Given the description of an element on the screen output the (x, y) to click on. 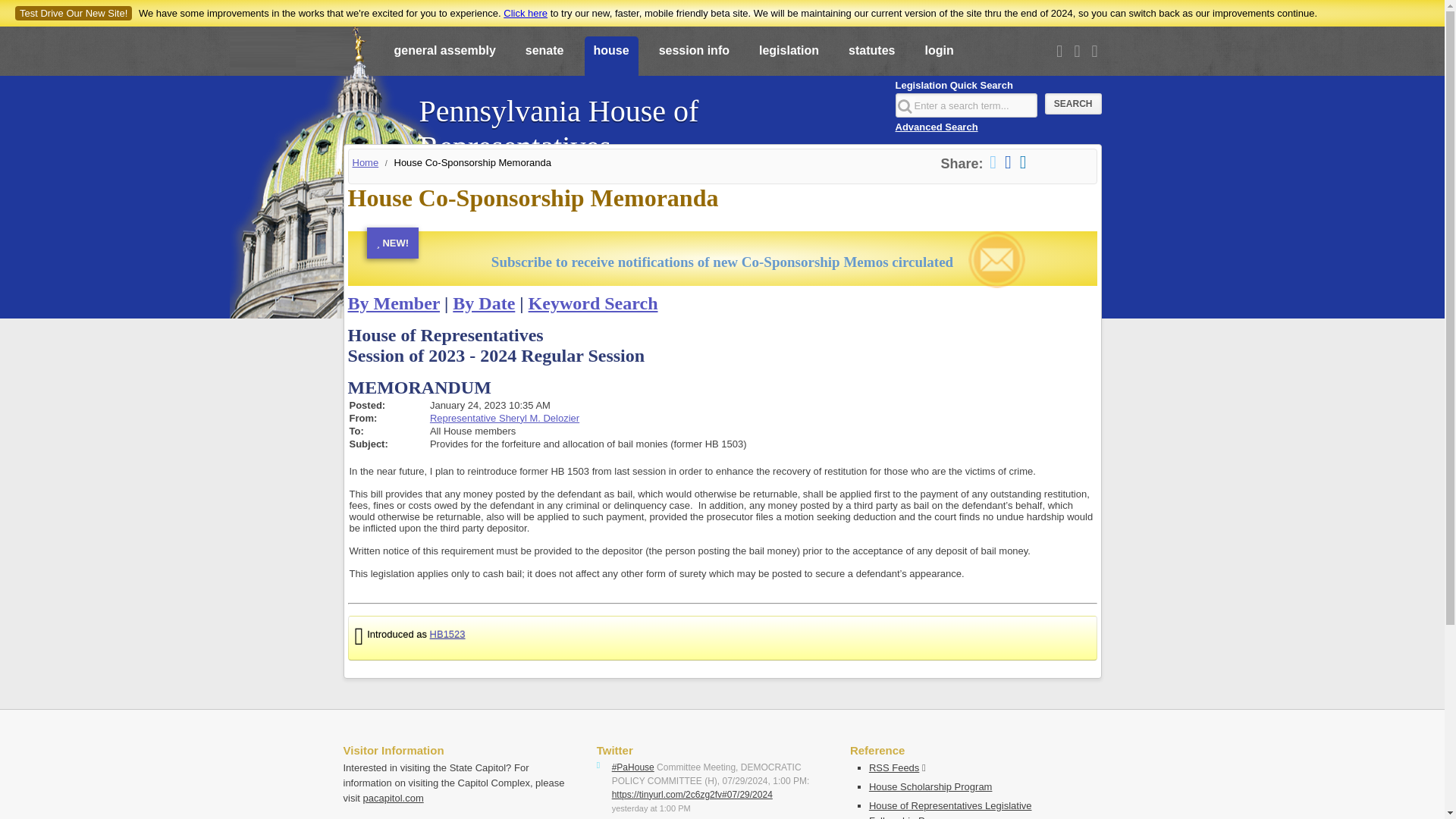
session info (693, 57)
legislation (788, 57)
Advanced Search (935, 126)
Click here (525, 12)
general assembly (445, 57)
Search (1073, 103)
login (938, 57)
house (610, 57)
statutes (872, 57)
Pennsylvania House of Representatives (647, 120)
Search (1073, 103)
senate (544, 57)
